Given the description of an element on the screen output the (x, y) to click on. 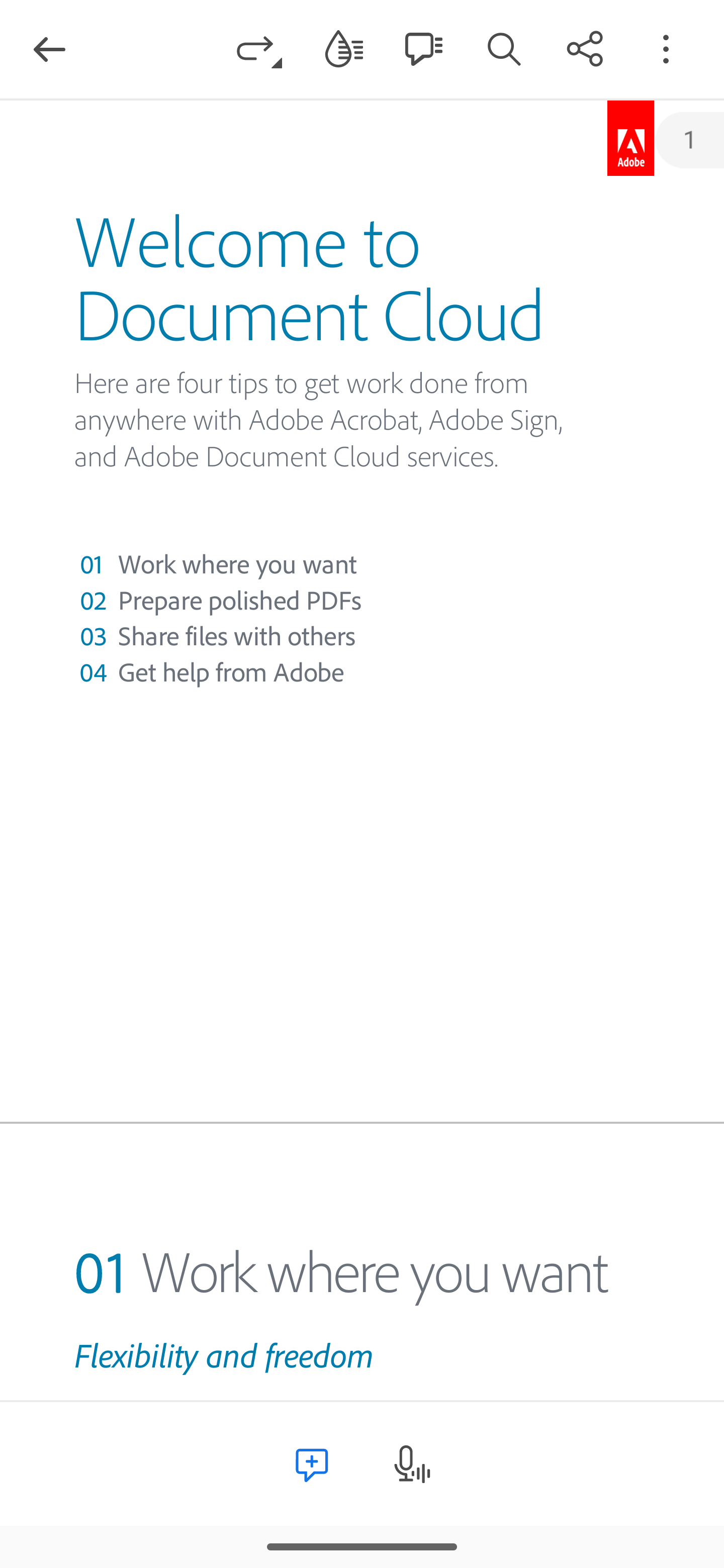
Back (49, 49)
Redo Edit(s) (259, 48)
Turn on Liquid Mode (343, 48)
Find keyword in document (503, 48)
Share this document with others (584, 48)
More options (665, 48)
Comments (423, 48)
Text (312, 1464)
Voice (411, 1464)
